Given the description of an element on the screen output the (x, y) to click on. 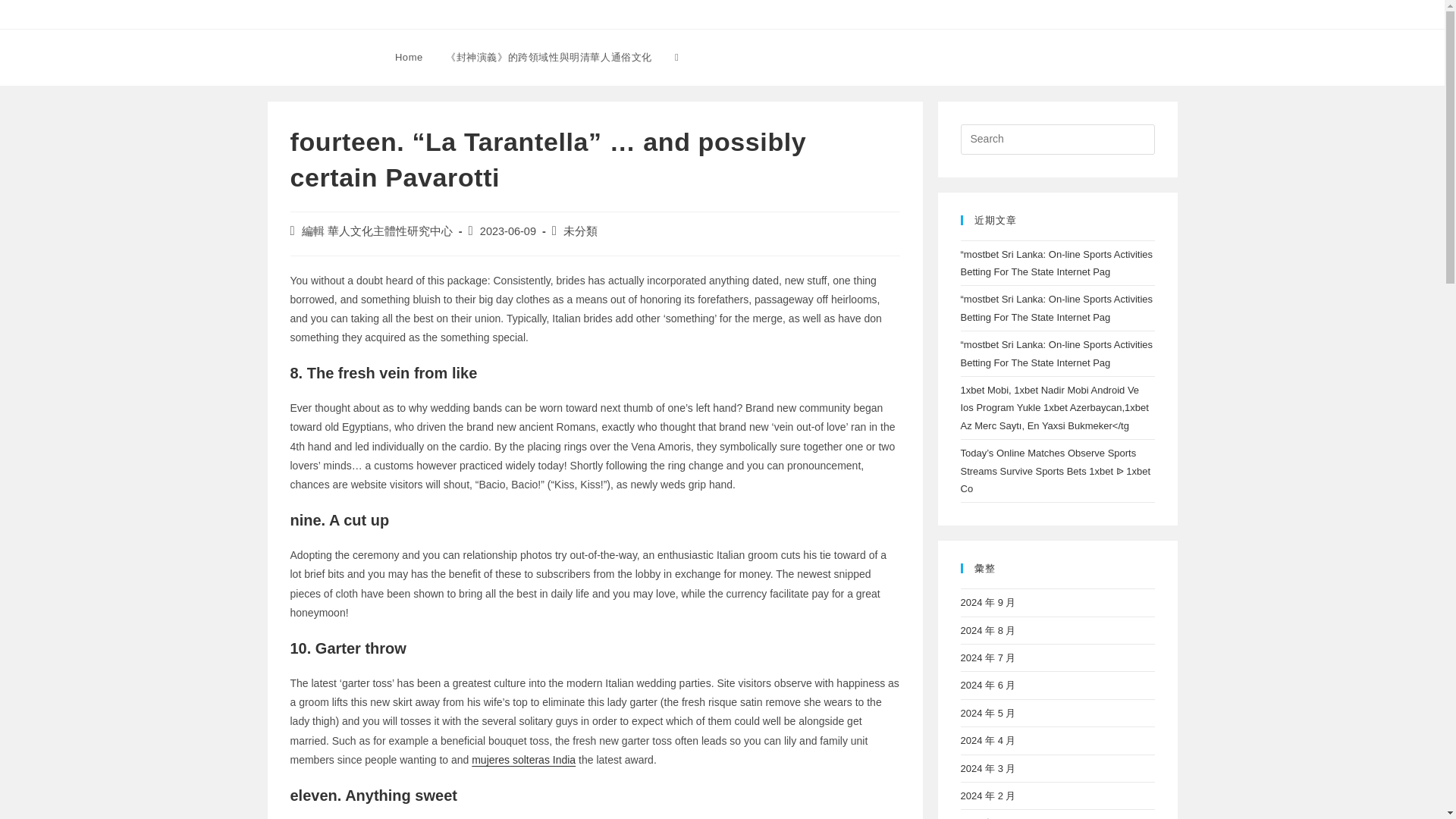
Home (408, 57)
mujeres solteras India (523, 759)
Barbara Witt (317, 56)
